Given the description of an element on the screen output the (x, y) to click on. 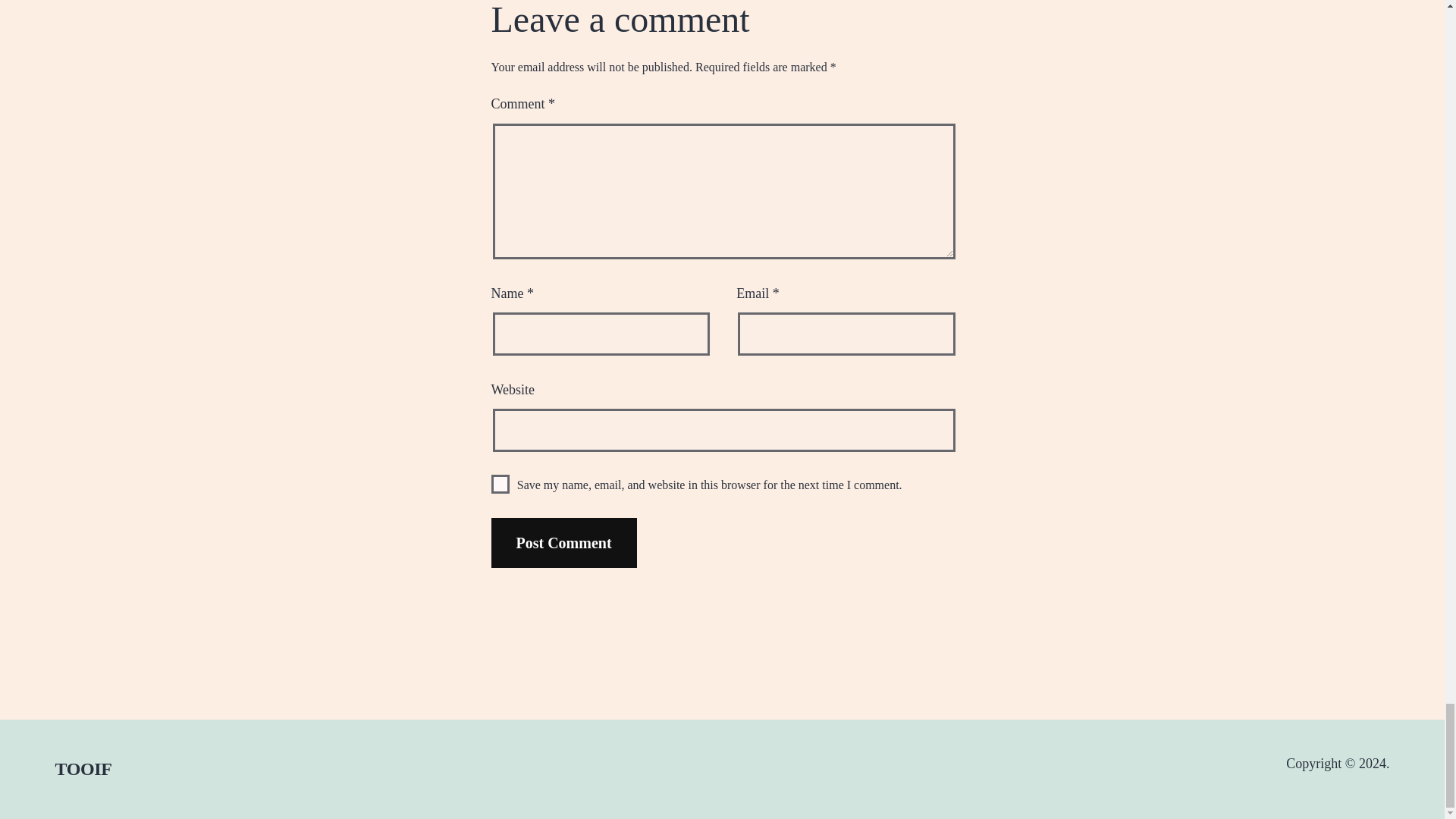
Post Comment (564, 542)
yes (500, 484)
TOOIF (83, 768)
Post Comment (564, 542)
